Given the description of an element on the screen output the (x, y) to click on. 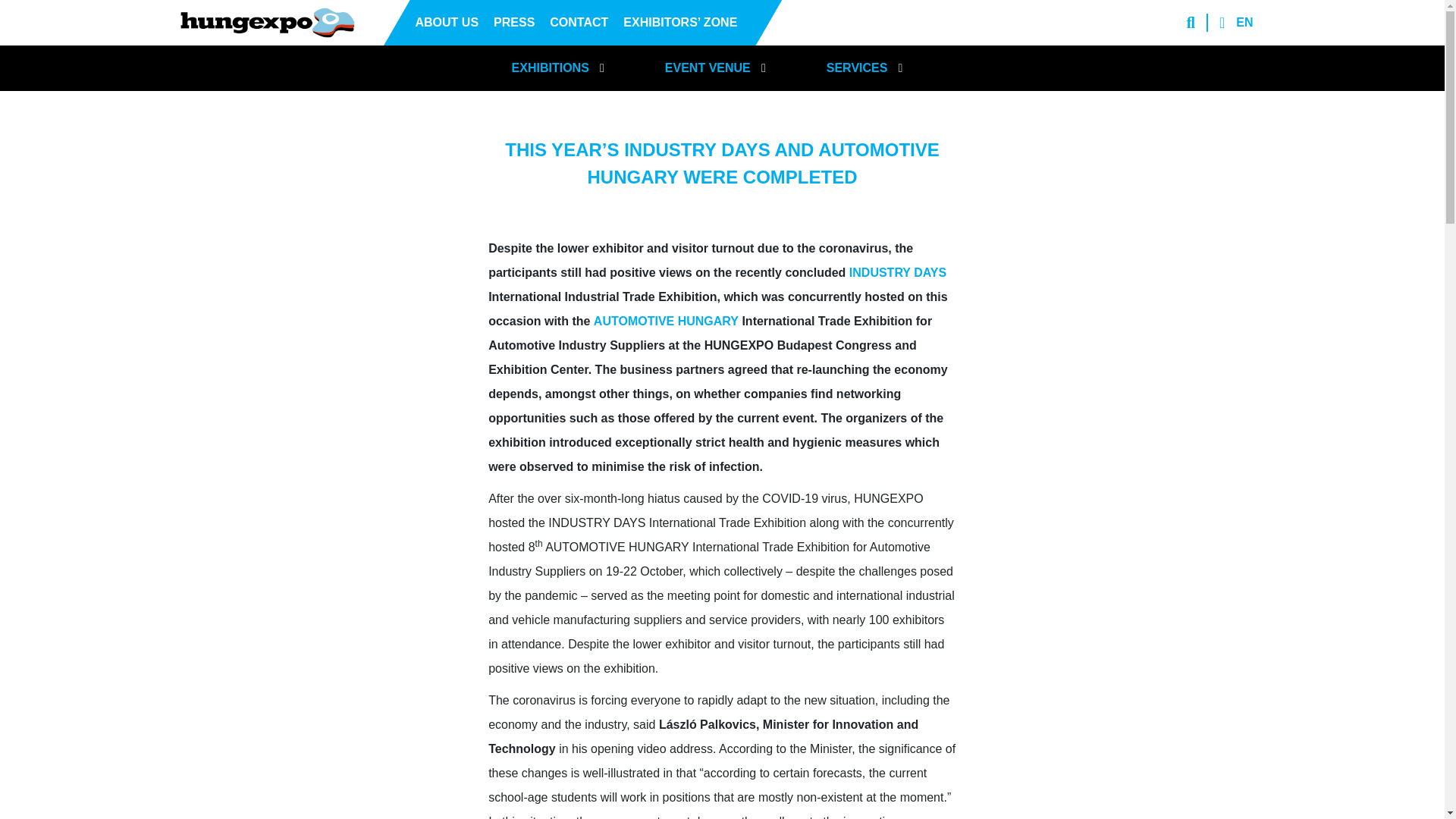
EXHIBITIONS (573, 67)
EVENT VENUE (730, 67)
PRESS (513, 22)
EN (1252, 22)
ABOUT US (446, 22)
CONTACT (578, 22)
